Given the description of an element on the screen output the (x, y) to click on. 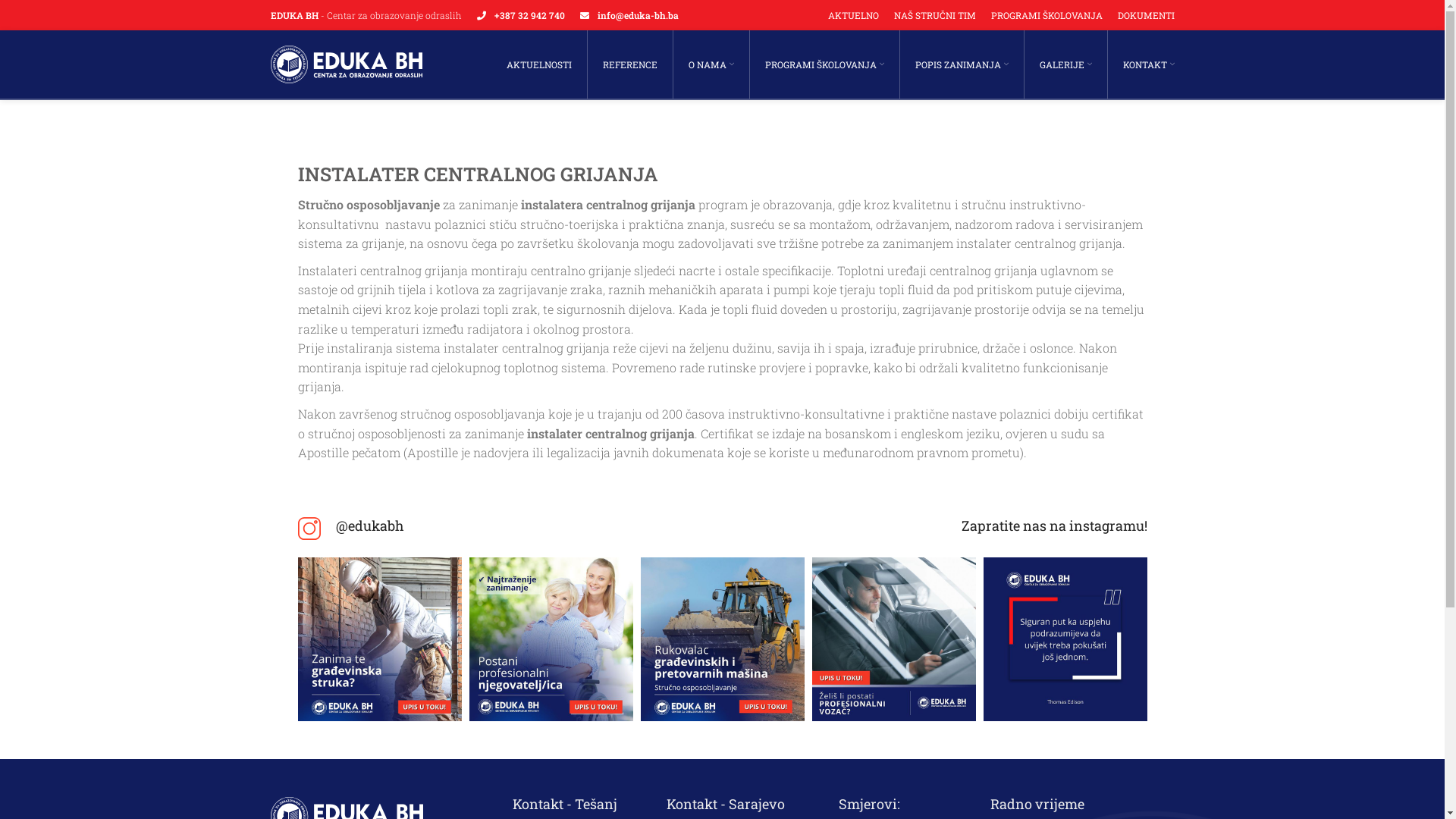
AKTUELNO Element type: text (853, 15)
POPIS ZANIMANJA Element type: text (960, 64)
+387 32 942 740 Element type: text (529, 15)
REFERENCE Element type: text (628, 64)
DOKUMENTI Element type: text (1146, 15)
AKTUELNOSTI Element type: text (538, 64)
O NAMA Element type: text (711, 64)
info@eduka-bh.ba Element type: text (637, 15)
KONTAKT Element type: text (1148, 64)
GALERIJE Element type: text (1064, 64)
